Given the description of an element on the screen output the (x, y) to click on. 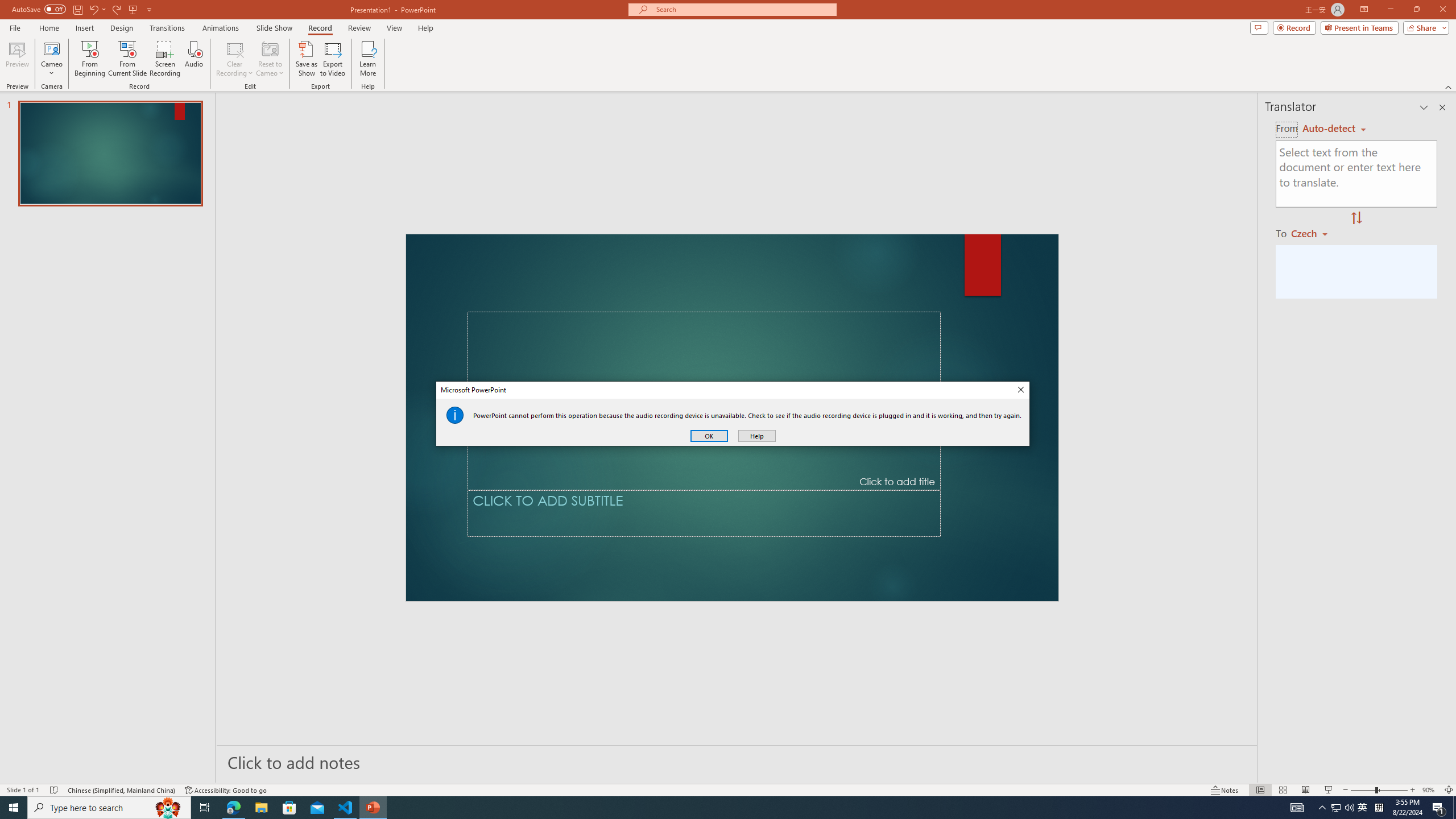
OK (709, 435)
